Given the description of an element on the screen output the (x, y) to click on. 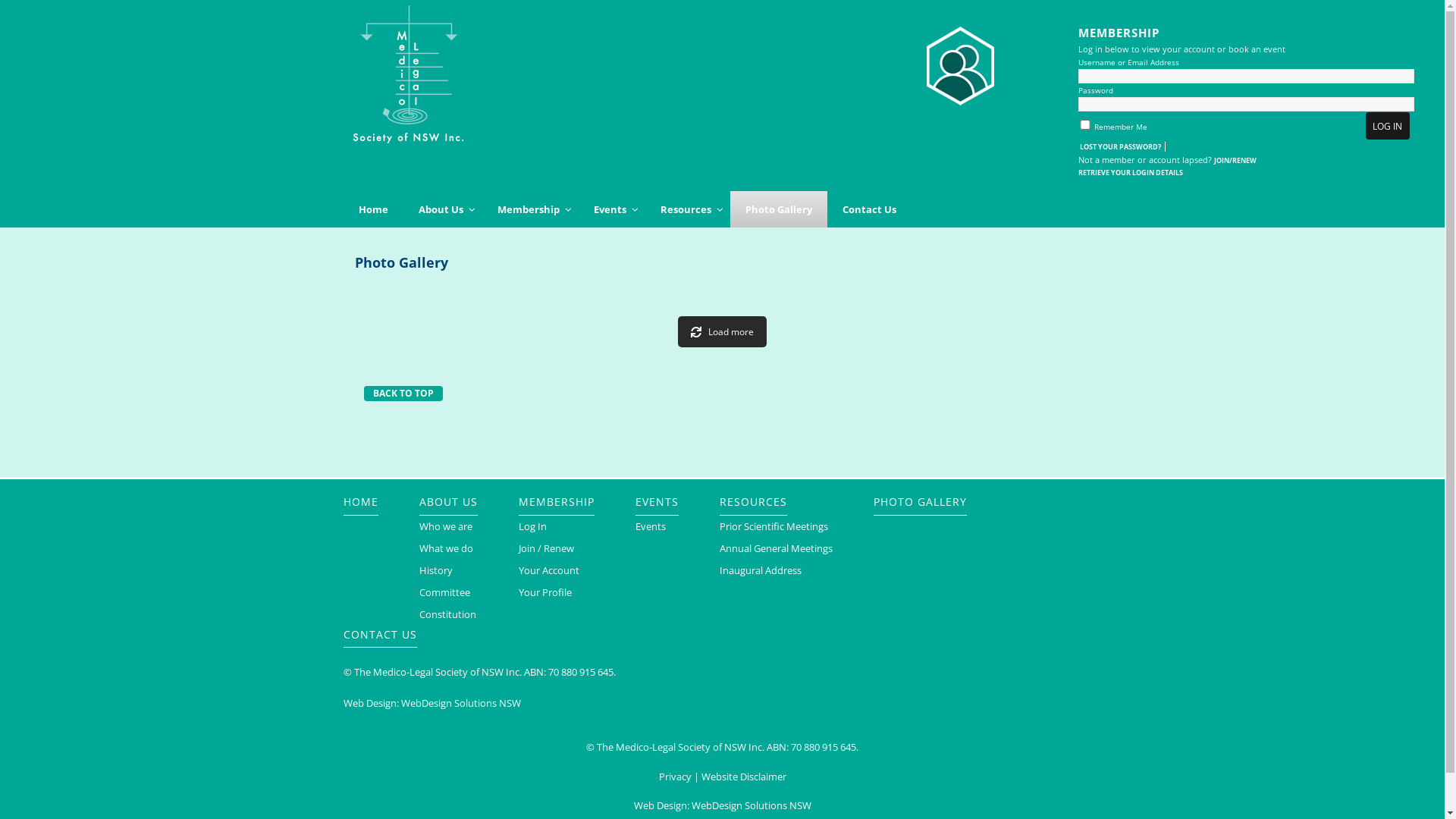
CONTACT US Element type: text (379, 634)
HOME Element type: text (359, 501)
LOST YOUR PASSWORD? Element type: text (1121, 146)
WebDesign Solutions NSW Element type: text (751, 805)
Load more Element type: text (721, 331)
BACK TO TOP Element type: text (403, 393)
Annual General Meetings Element type: text (774, 548)
ABOUT US Element type: text (447, 501)
Events Element type: text (610, 209)
History Element type: text (434, 570)
Contact Us Element type: text (868, 209)
Privacy Element type: text (674, 776)
WebDesign Solutions NSW Element type: text (460, 703)
Home Element type: text (372, 209)
Your Account Element type: text (548, 570)
RETRIEVE YOUR LOGIN DETAILS Element type: text (1130, 172)
Photo Gallery Element type: text (777, 209)
EVENTS Element type: text (656, 501)
Prior Scientific Meetings Element type: text (772, 526)
Resources Element type: text (686, 209)
LOG IN Element type: text (1387, 125)
Who we are Element type: text (444, 526)
Membership Element type: text (530, 209)
Committee Element type: text (443, 592)
PHOTO GALLERY Element type: text (919, 501)
RESOURCES Element type: text (752, 501)
JOIN/RENEW Element type: text (1235, 160)
Join / Renew Element type: text (546, 548)
Your Profile Element type: text (544, 592)
Website Disclaimer Element type: text (742, 776)
Inaugural Address Element type: text (759, 570)
Log In Element type: text (532, 526)
What we do Element type: text (445, 548)
MEMBERSHIP Element type: text (556, 501)
Events Element type: text (650, 526)
About Us Element type: text (442, 209)
Constitution Element type: text (446, 614)
